Given the description of an element on the screen output the (x, y) to click on. 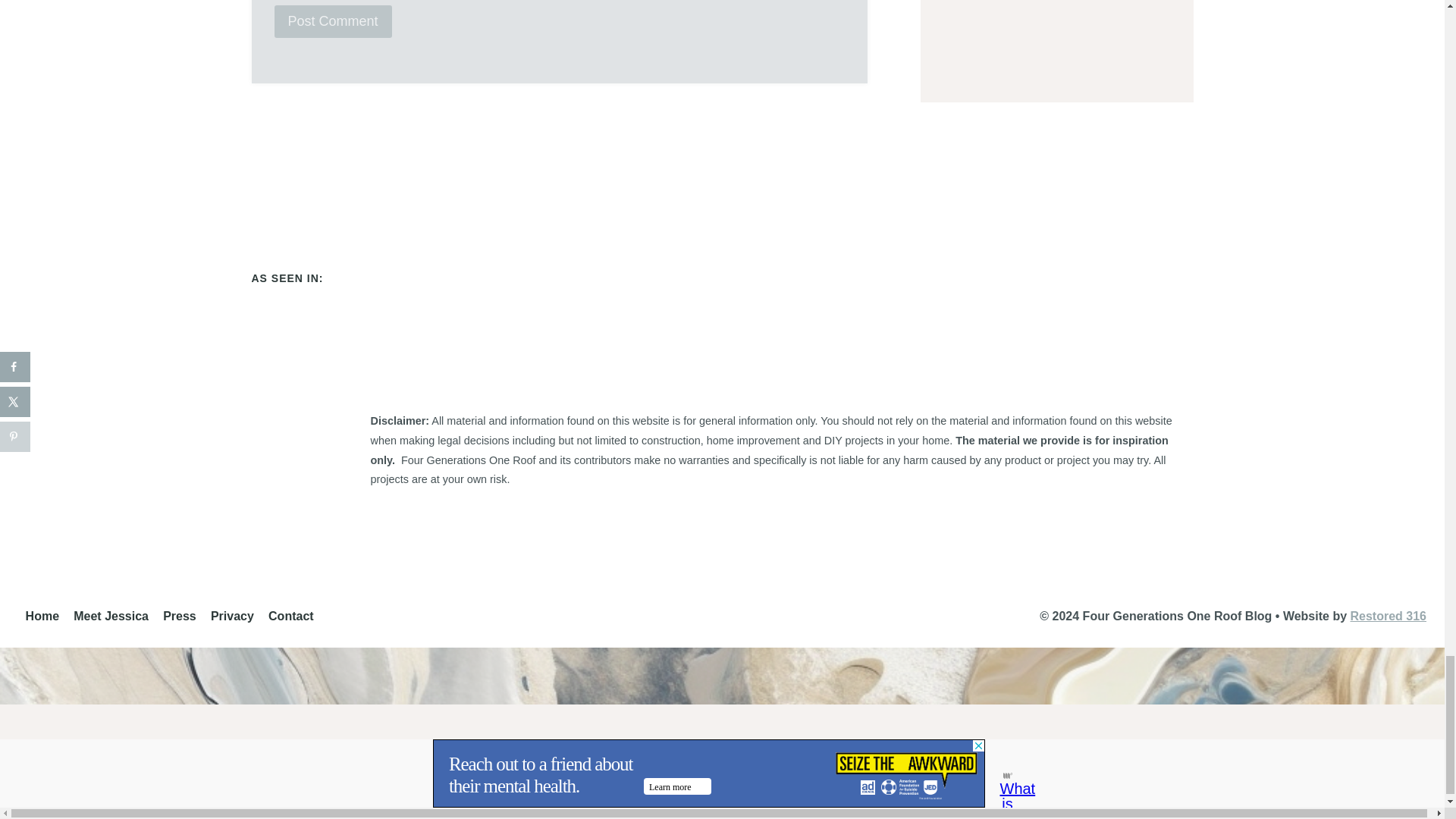
Post Comment (333, 20)
